Given the description of an element on the screen output the (x, y) to click on. 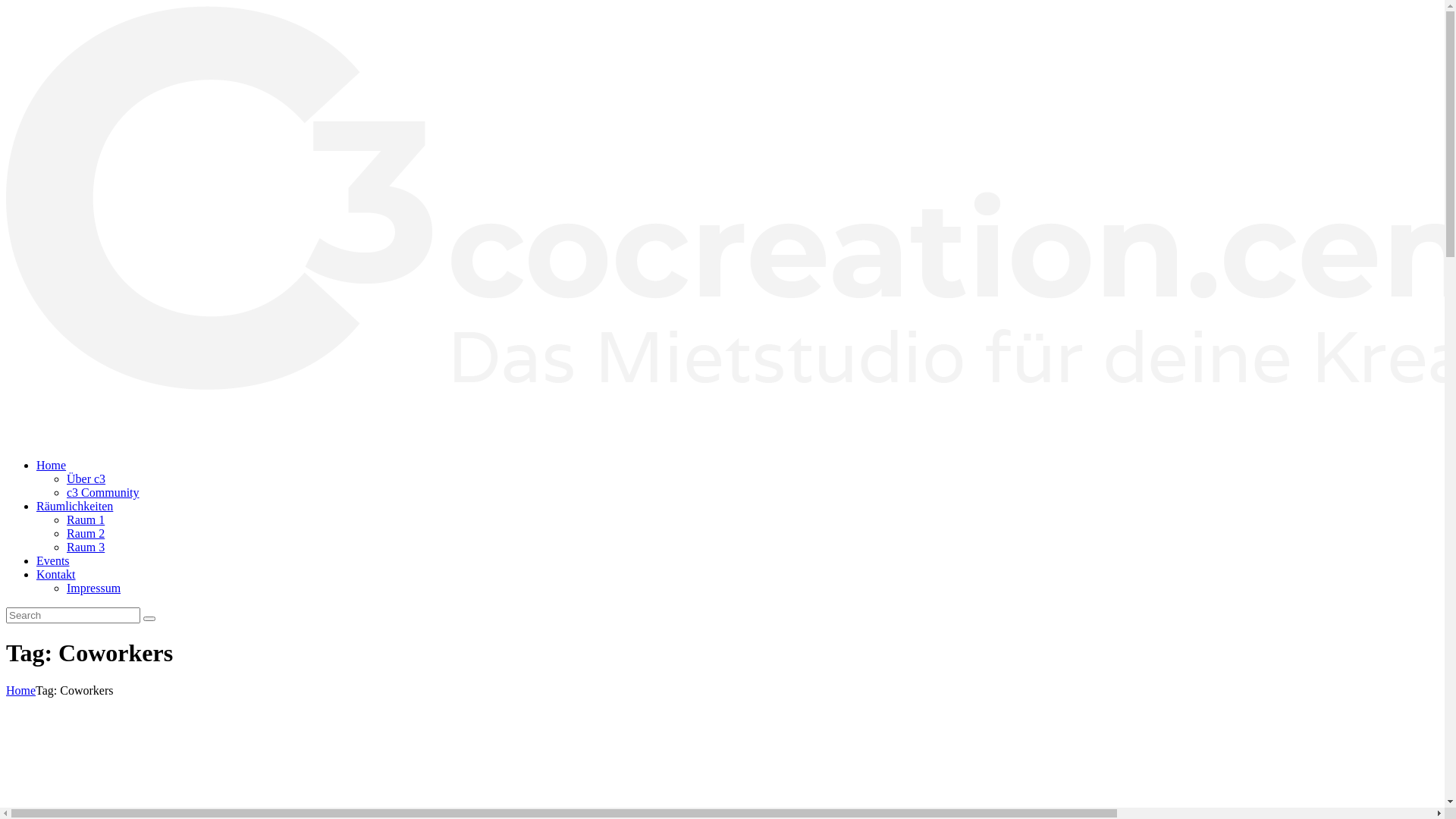
Home Element type: text (50, 464)
Kontakt Element type: text (55, 573)
Raum 1 Element type: text (85, 519)
Raum 2 Element type: text (85, 533)
Events Element type: text (52, 560)
Impressum Element type: text (93, 587)
Home Element type: text (20, 690)
Raum 3 Element type: text (85, 546)
c3 Community Element type: text (102, 492)
